Given the description of an element on the screen output the (x, y) to click on. 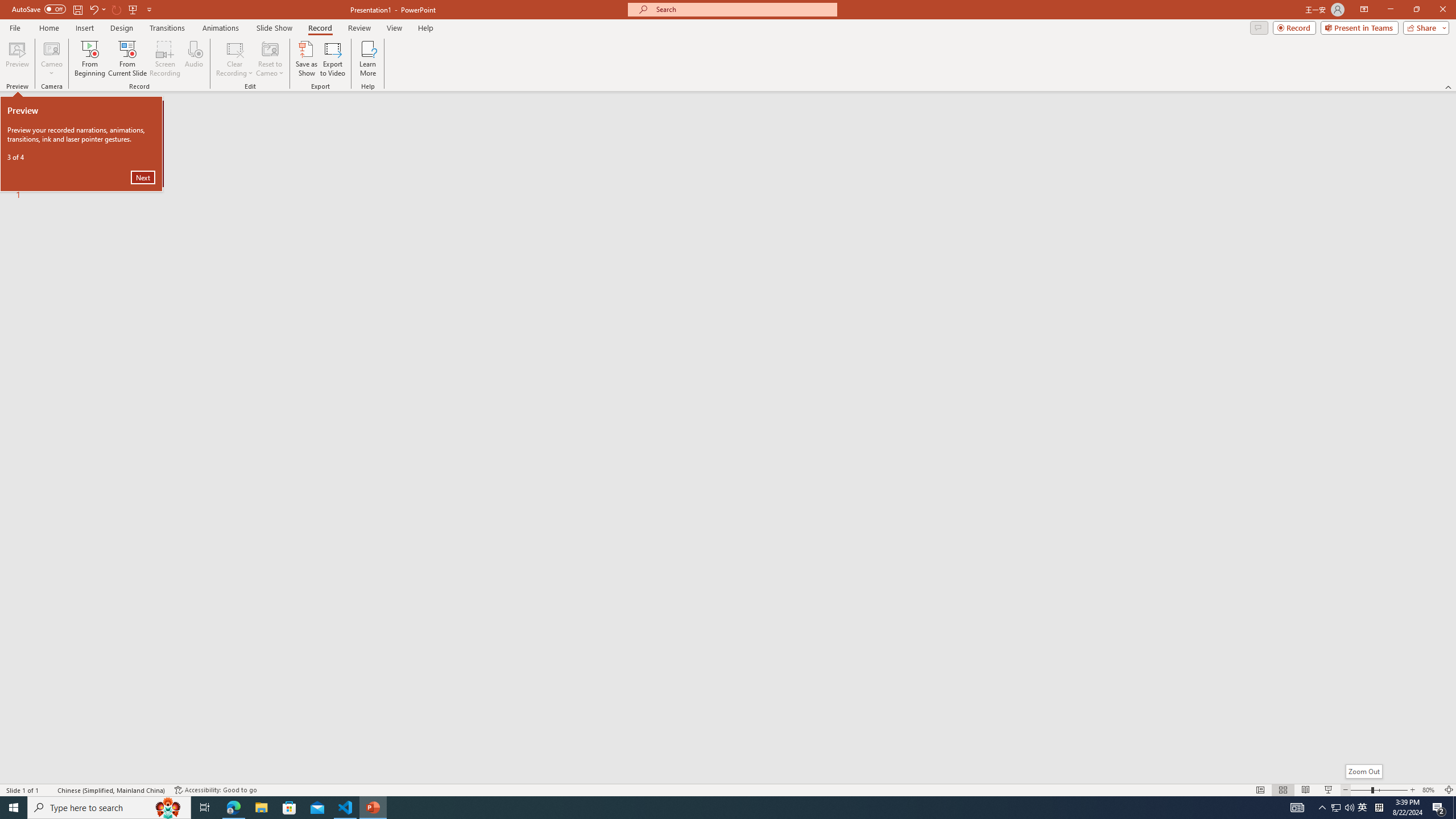
Action Center, 2 new notifications (1439, 807)
Learn More (368, 58)
Export to Video (332, 58)
Running applications (707, 807)
